Given the description of an element on the screen output the (x, y) to click on. 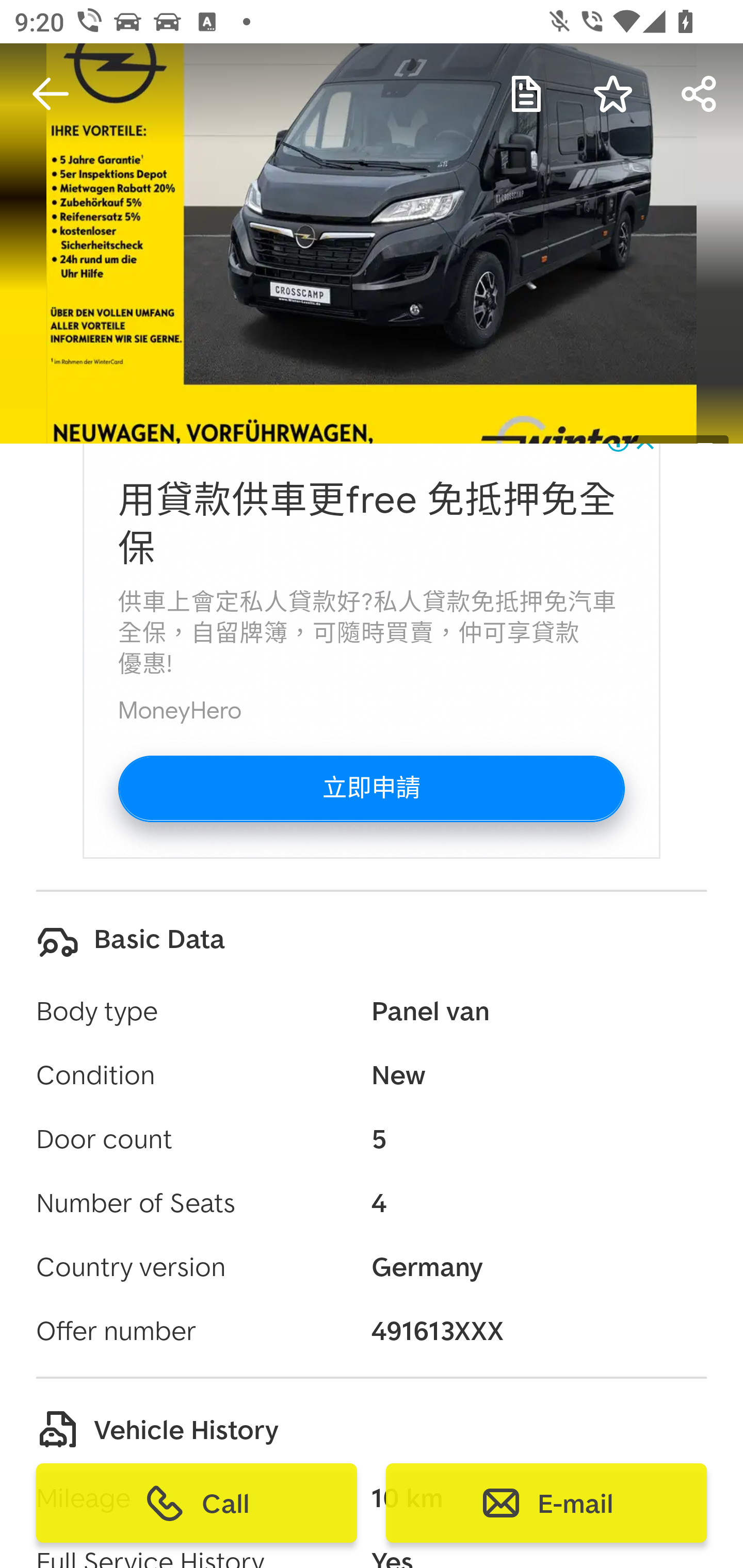
Navigate up (50, 93)
My Notes (525, 93)
Save (612, 93)
Forward (699, 93)
用貸款供車更free 免抵押免全 保 用貸款供車更free 免抵押免全 保 (366, 524)
MoneyHero (179, 709)
立即申請 (370, 788)
Call (196, 1502)
E-mail (545, 1502)
